Given the description of an element on the screen output the (x, y) to click on. 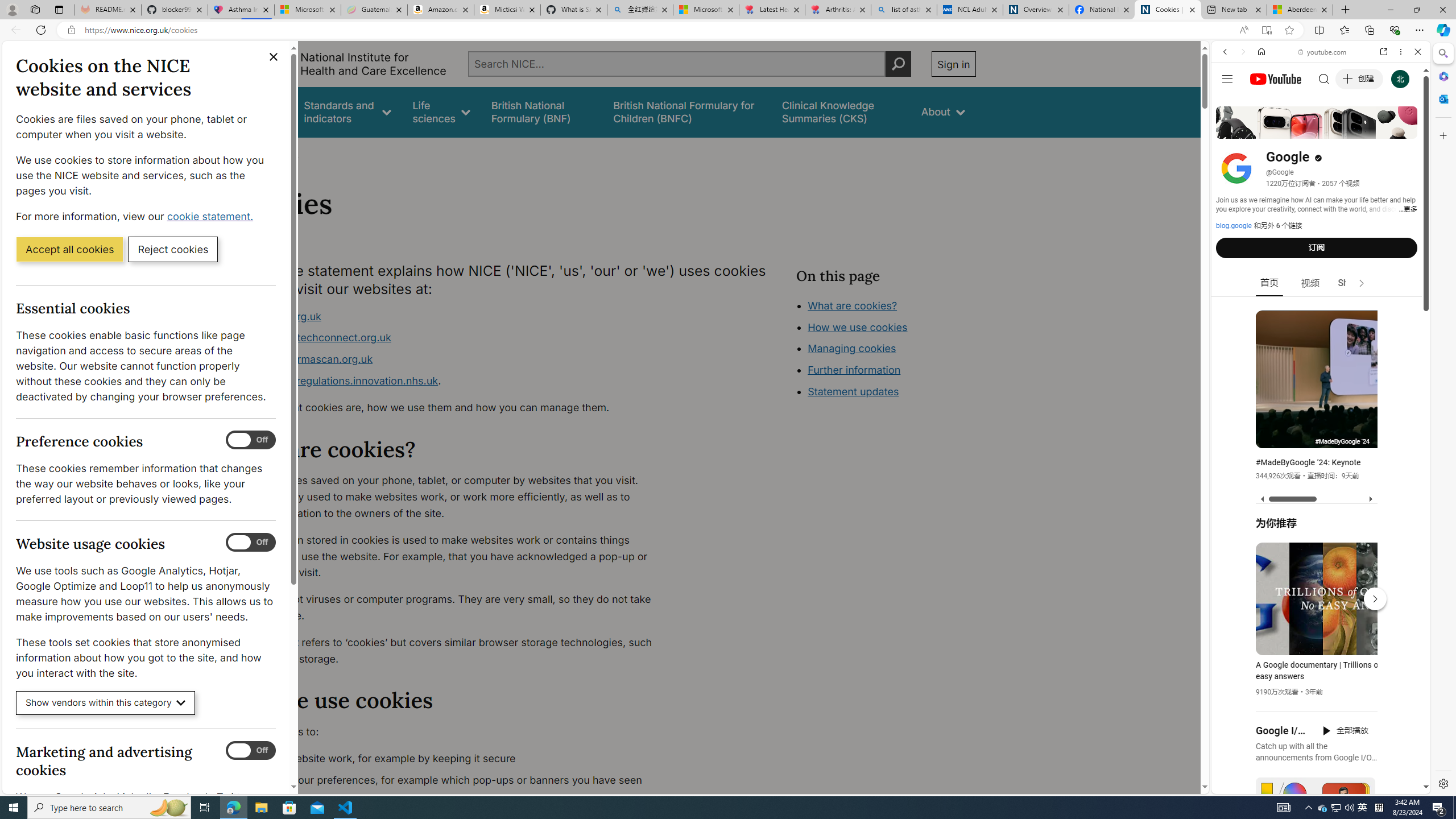
Managing cookies (852, 348)
About (942, 111)
YouTube (1315, 655)
MadeByGoogle '24: Intro (1391, 437)
blog.google (1233, 225)
www.digitalregulations.innovation.nhs.uk (338, 380)
make our website work, for example by keeping it secure (452, 759)
Cookies | About | NICE (1167, 9)
Life sciences (440, 111)
